Given the description of an element on the screen output the (x, y) to click on. 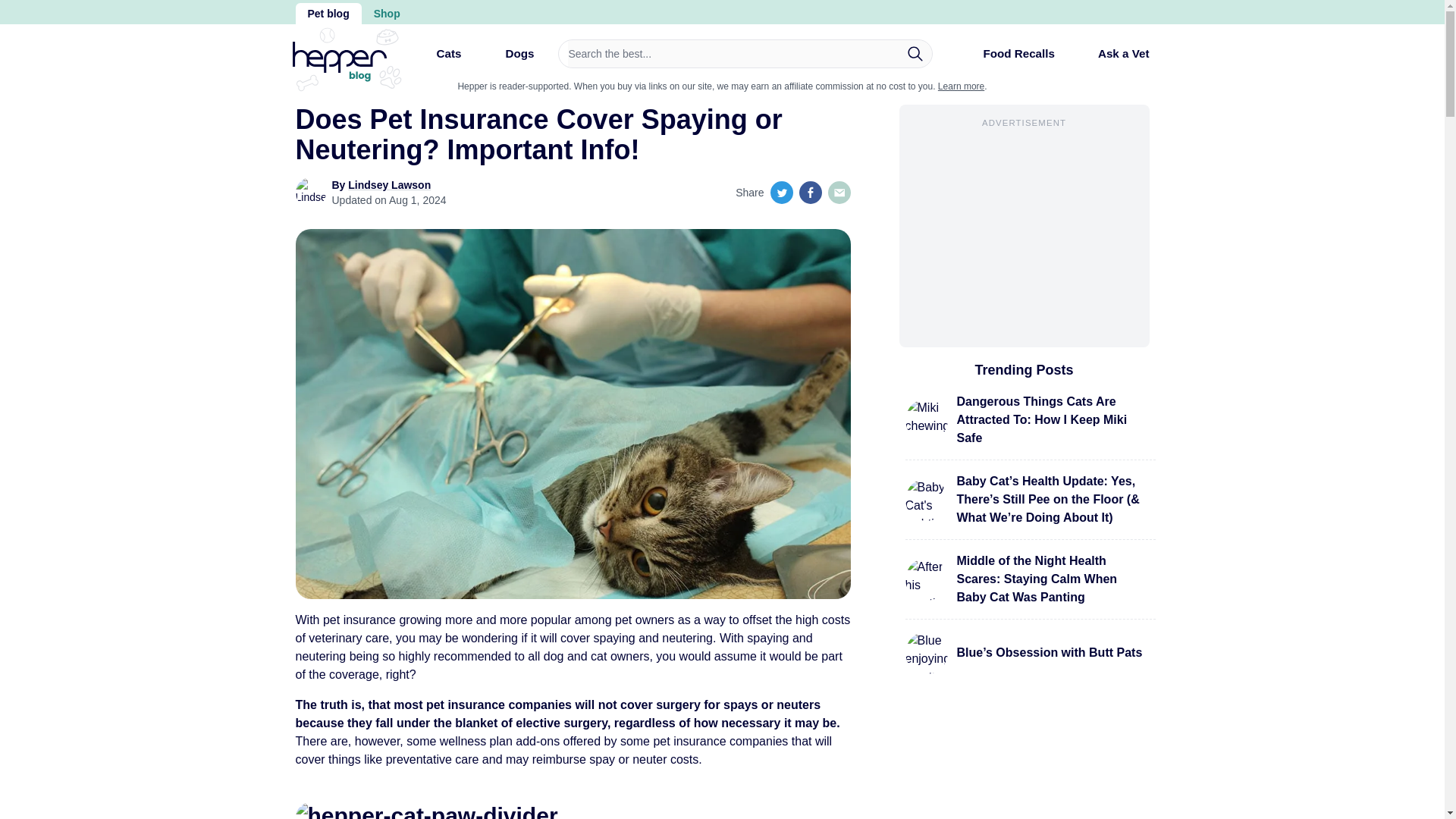
Learn more (960, 86)
Food Recalls (1005, 59)
Cats (435, 59)
Shop (387, 13)
Lindsey Lawson (388, 184)
Ask a Vet (1111, 53)
Dogs (506, 59)
